Given the description of an element on the screen output the (x, y) to click on. 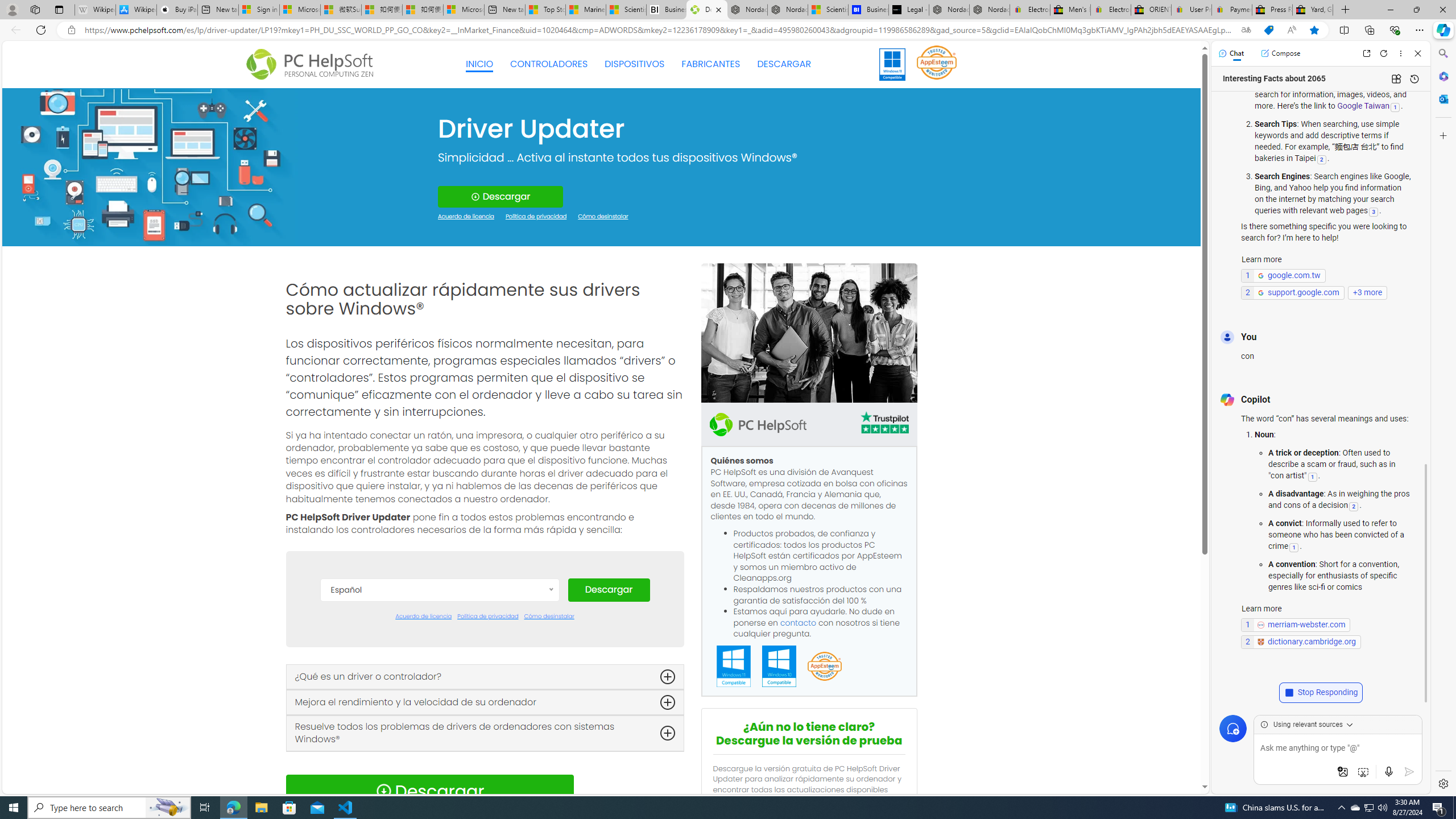
App bar (728, 29)
Windows 11 (892, 64)
Top Stories - MSN (544, 9)
Windows 10 Compatible (778, 666)
DISPOSITIVOS (634, 64)
English (439, 695)
INICIO (479, 64)
Address and search bar (658, 29)
CONTROLADORES (548, 64)
